Given the description of an element on the screen output the (x, y) to click on. 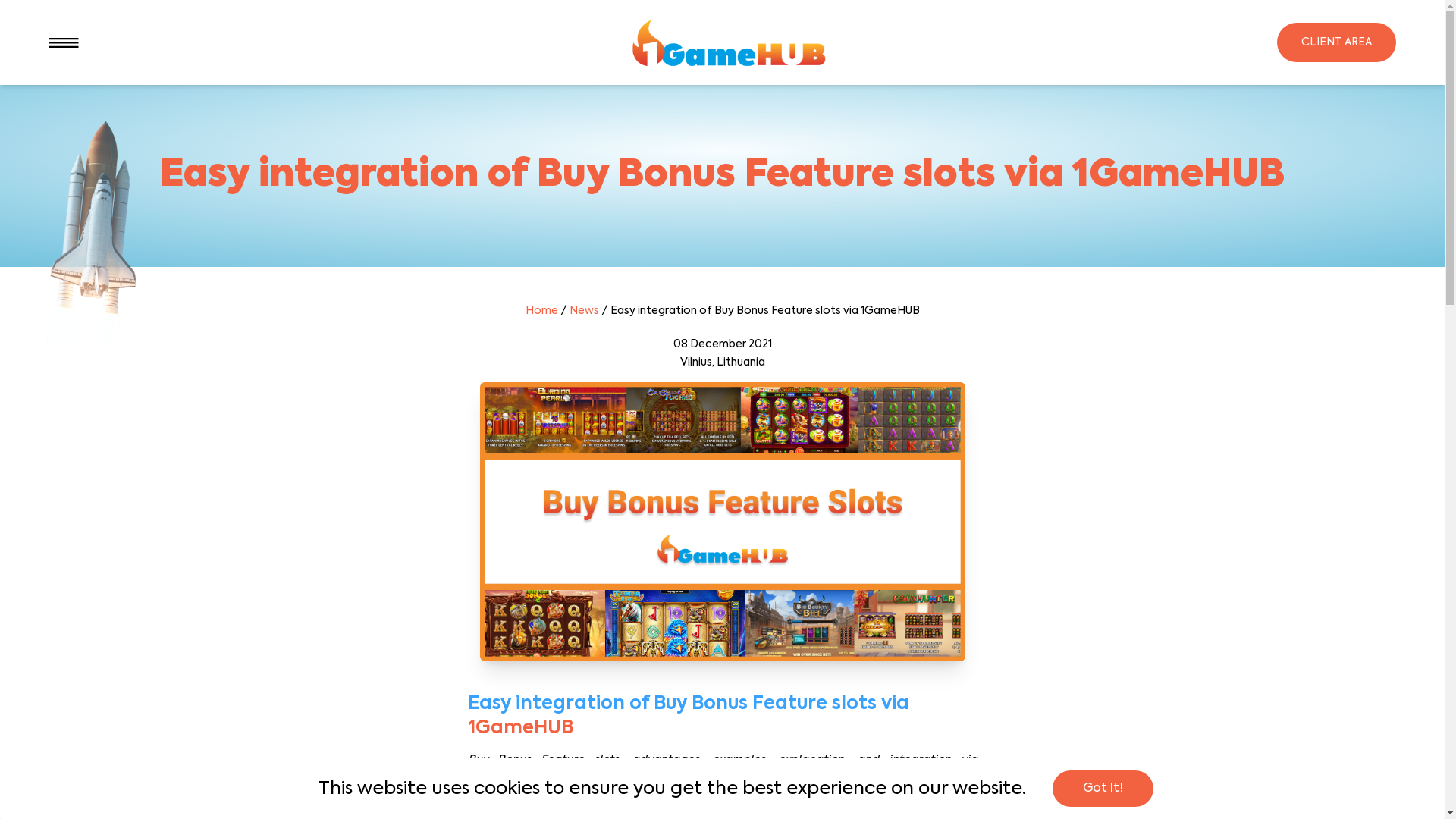
Home Element type: text (540, 310)
News Element type: text (583, 310)
Got It! Element type: text (1102, 788)
CLIENT AREA Element type: text (1336, 42)
